Given the description of an element on the screen output the (x, y) to click on. 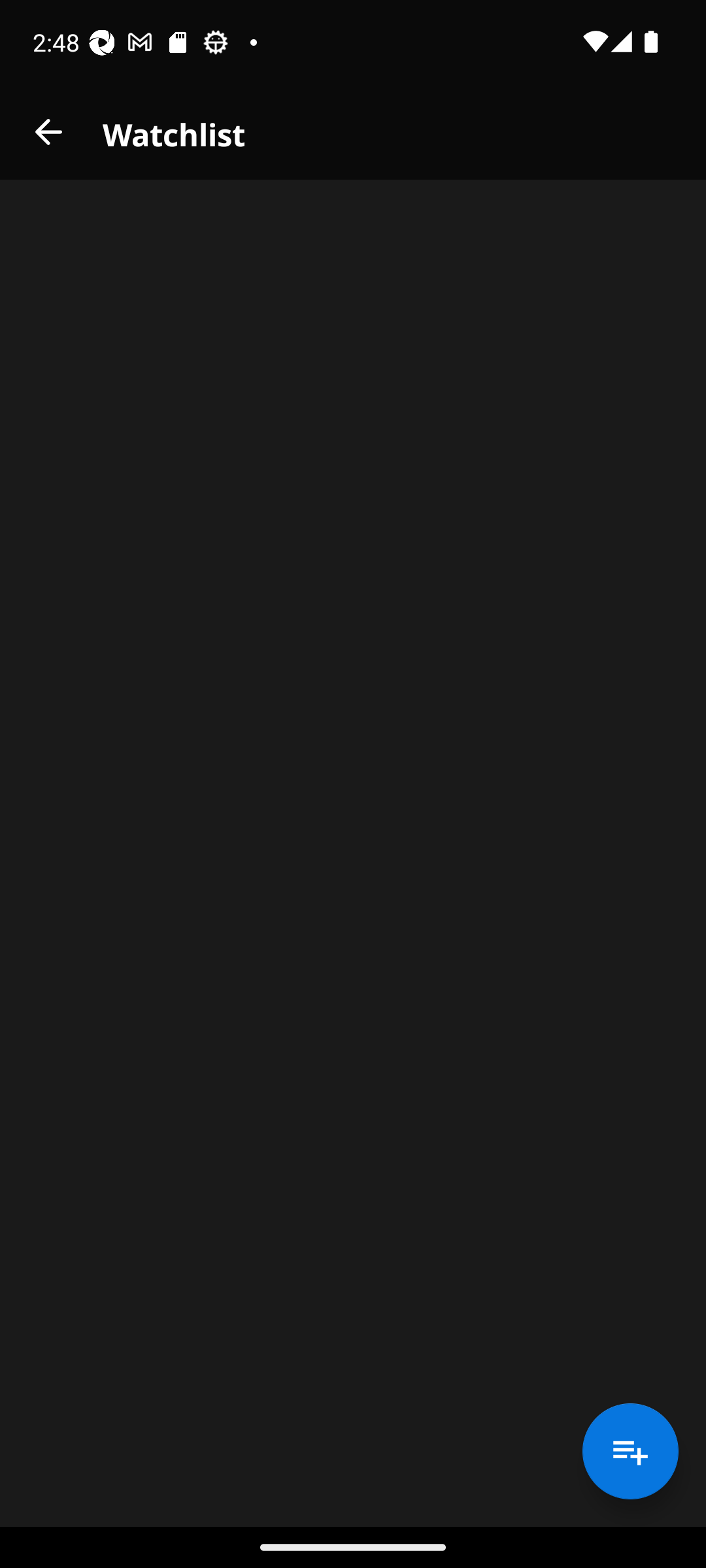
close_button (48, 131)
